Given the description of an element on the screen output the (x, y) to click on. 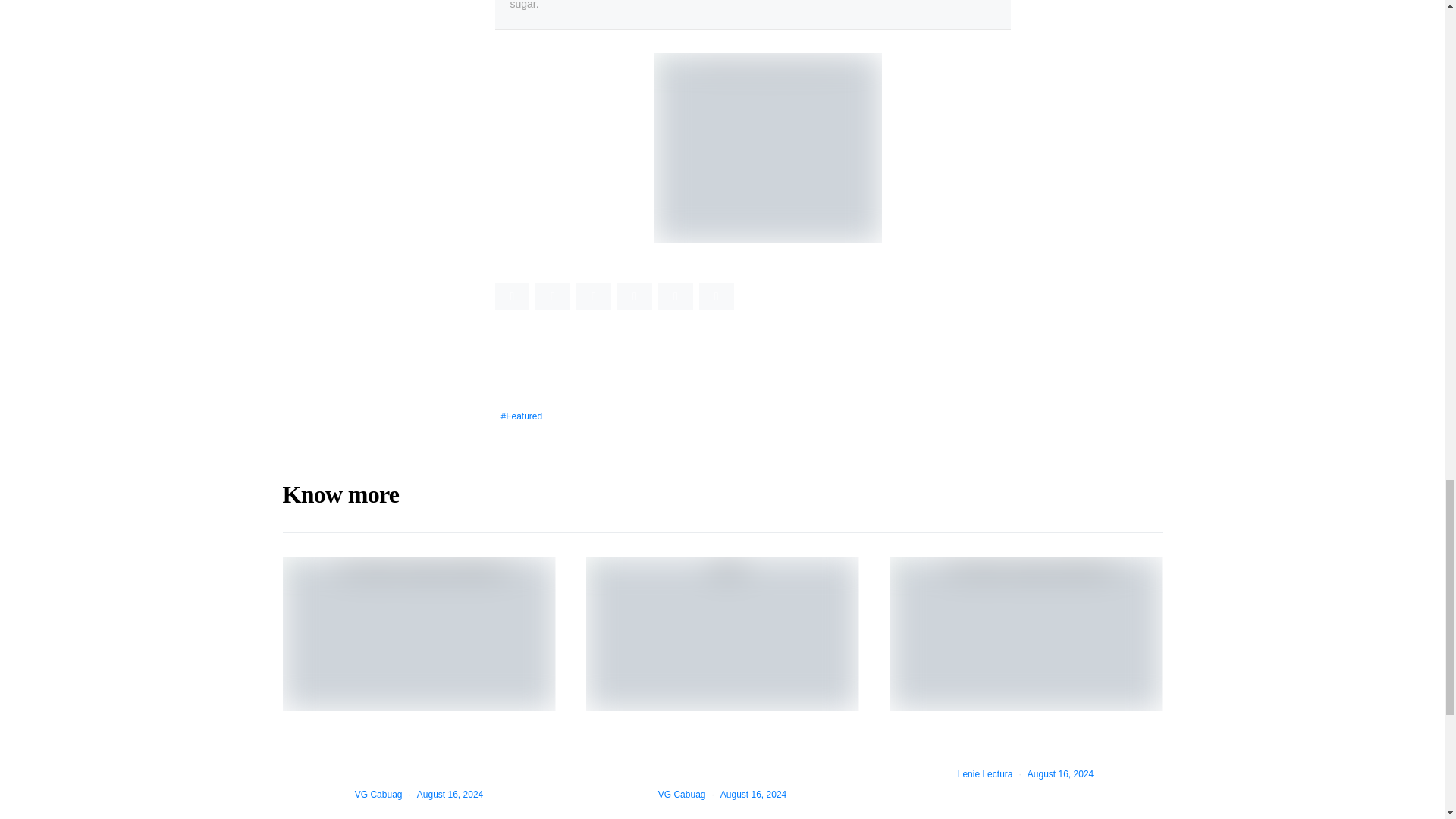
View all posts by Lenie Lectura (985, 774)
View all posts by VG Cabuag (379, 794)
View all posts by VG Cabuag (682, 794)
